Given the description of an element on the screen output the (x, y) to click on. 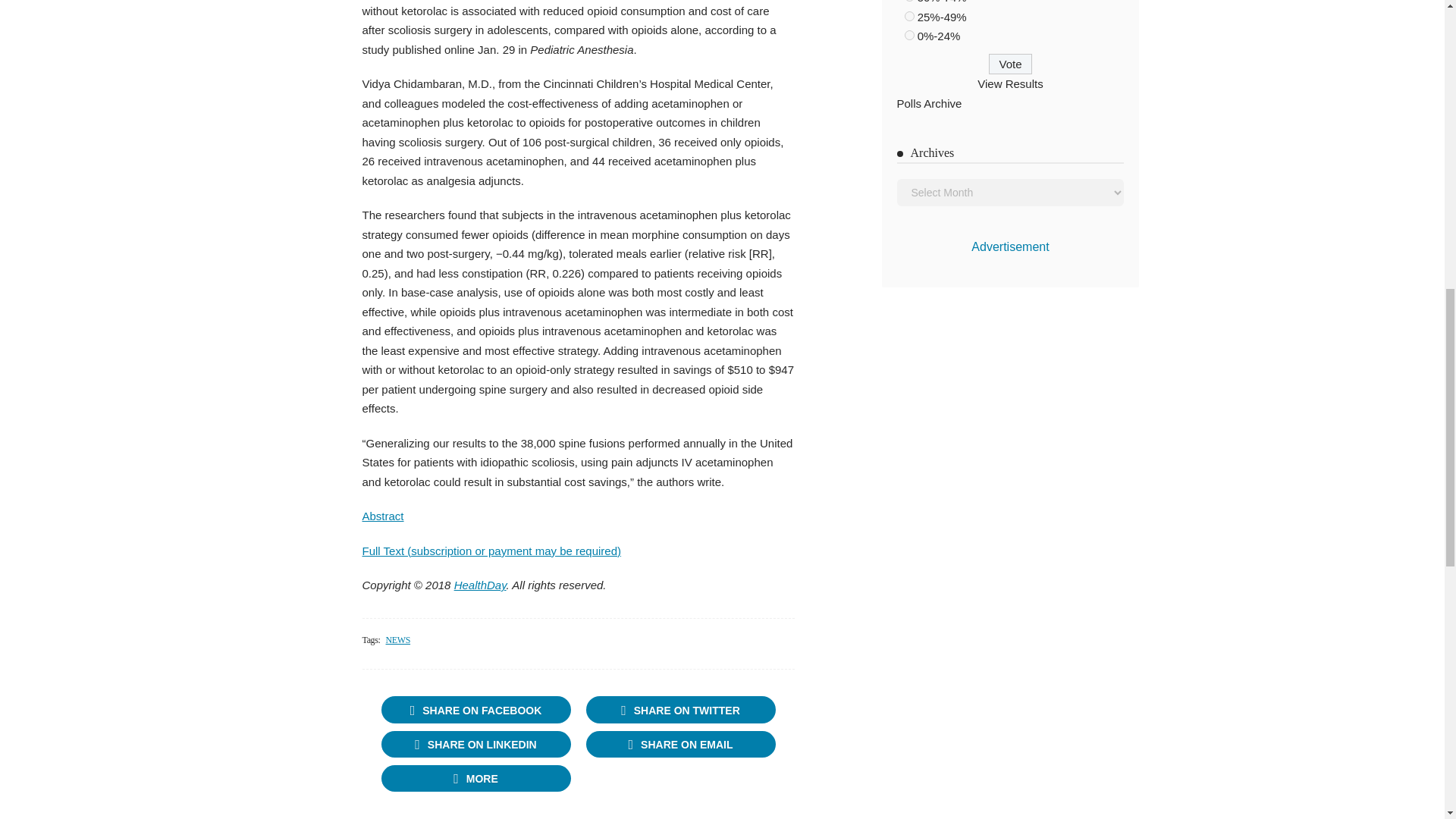
10 (909, 35)
NEWS (397, 640)
   Vote    (1010, 64)
9 (909, 16)
NEWS (397, 640)
SHARE ON LINKEDIN (475, 744)
HealthDay (480, 584)
SHARE ON EMAIL (679, 744)
MORE (475, 777)
Abstract (383, 515)
SHARE ON TWITTER (679, 709)
SHARE ON FACEBOOK (475, 709)
